Given the description of an element on the screen output the (x, y) to click on. 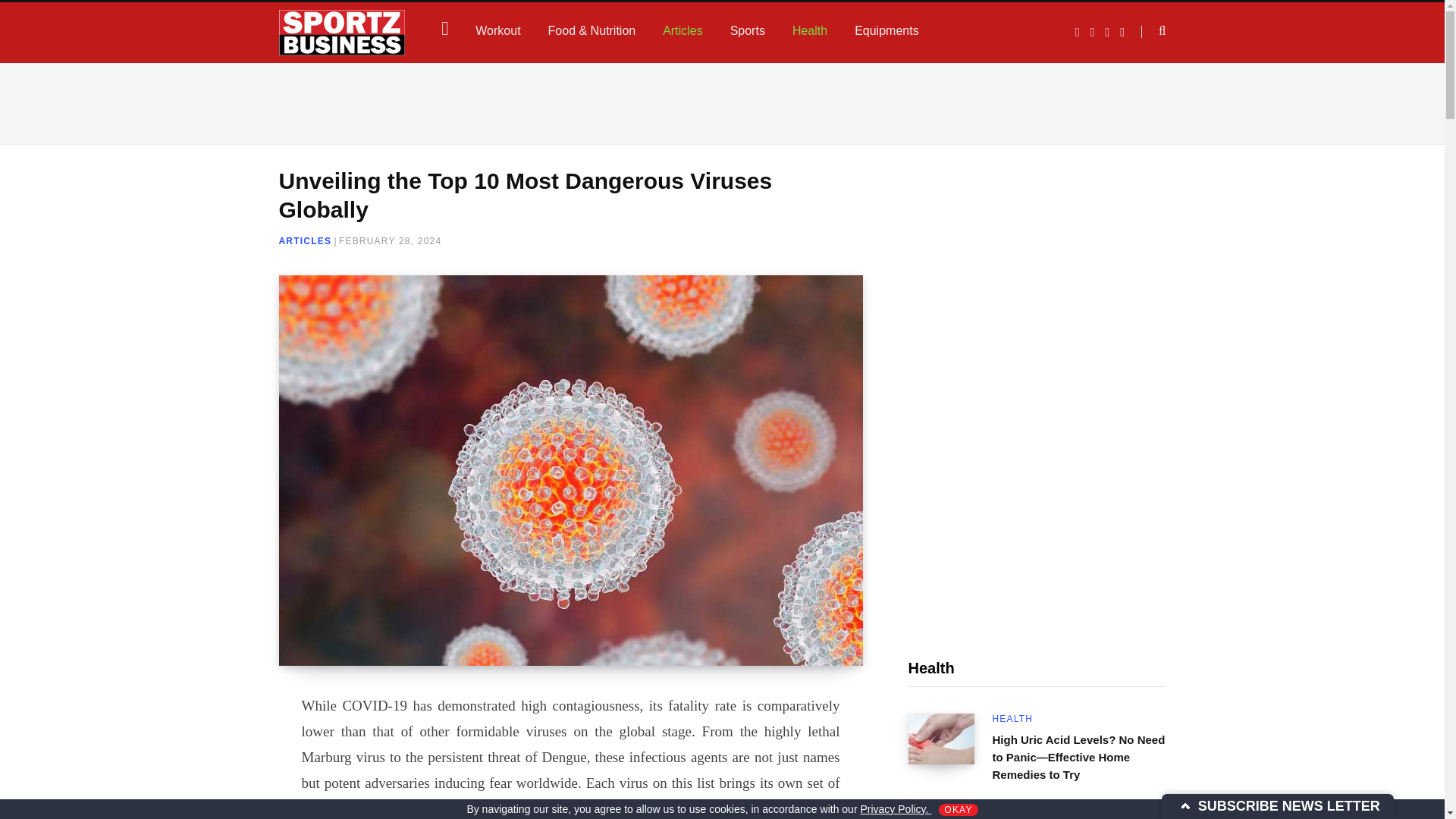
Articles (682, 30)
Health (809, 30)
Sportz Business (342, 32)
ARTICLES (305, 240)
Workout (497, 30)
FEBRUARY 28, 2024 (390, 240)
Search (1153, 31)
Sports (747, 30)
Equipments (887, 30)
